Given the description of an element on the screen output the (x, y) to click on. 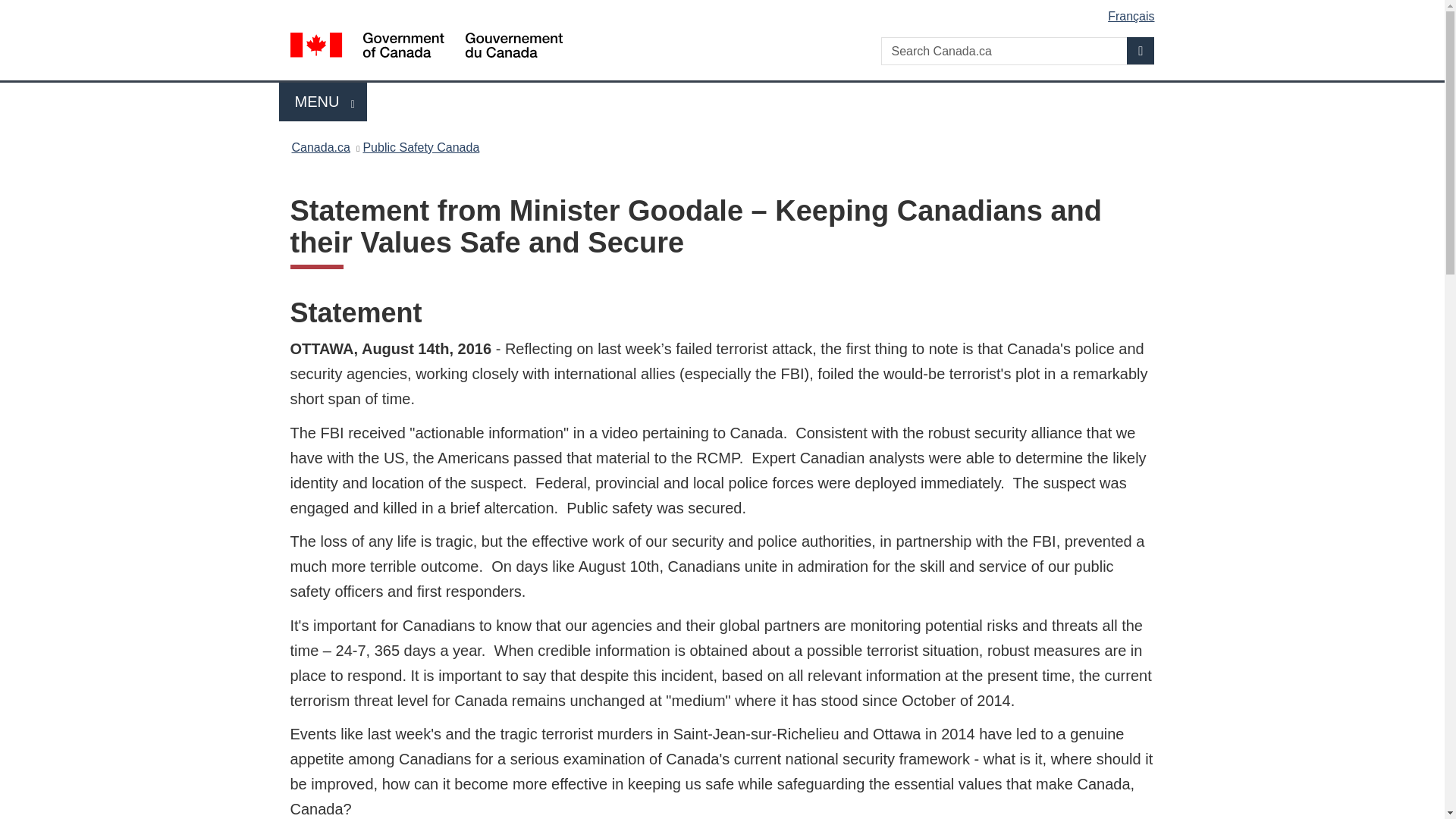
Search (1140, 50)
Skip to main content (725, 11)
Public Safety Canada (322, 101)
Canada.ca (420, 147)
